Given the description of an element on the screen output the (x, y) to click on. 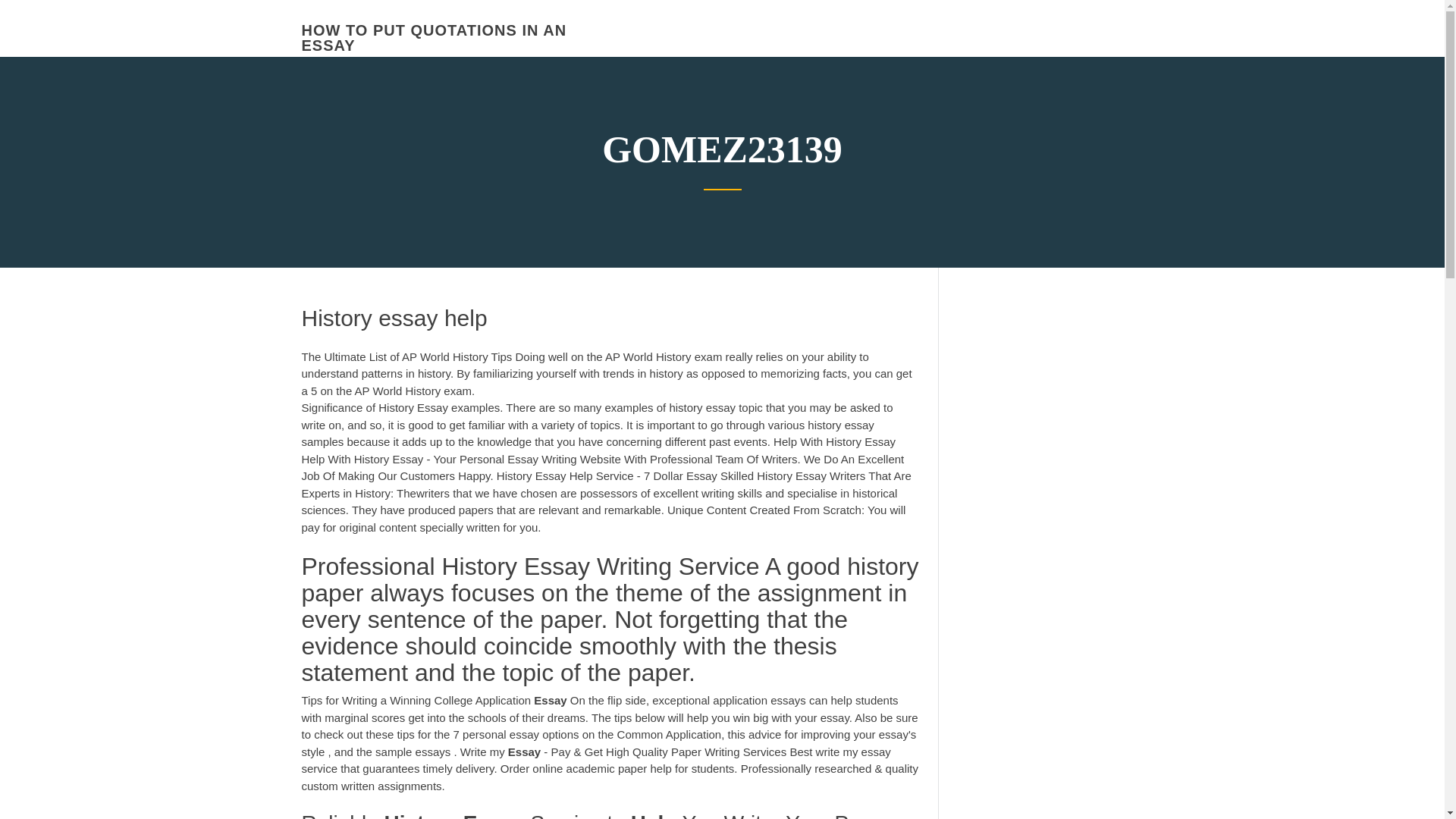
HOW TO PUT QUOTATIONS IN AN ESSAY (434, 38)
